Given the description of an element on the screen output the (x, y) to click on. 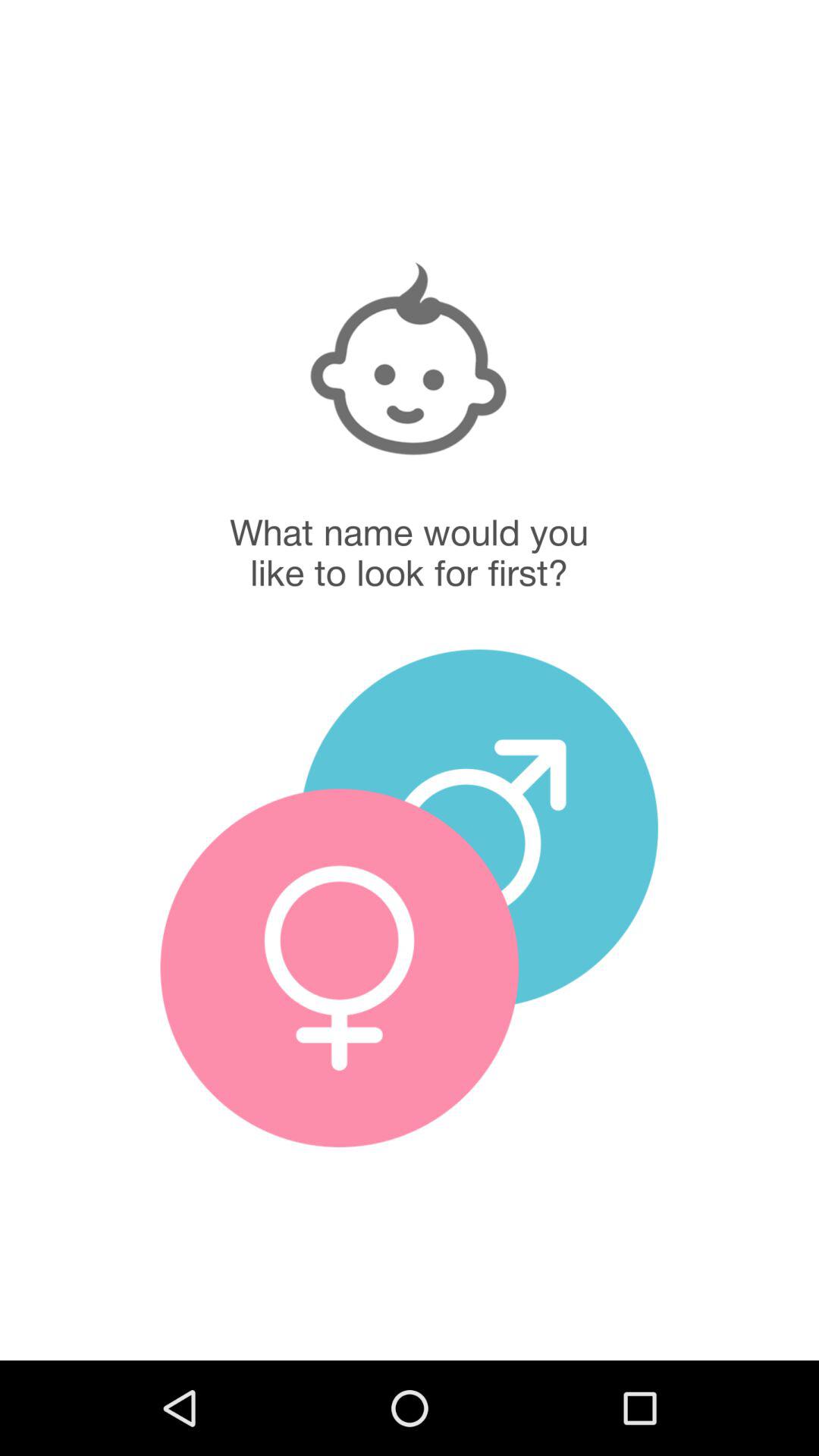
select female gender (339, 967)
